Given the description of an element on the screen output the (x, y) to click on. 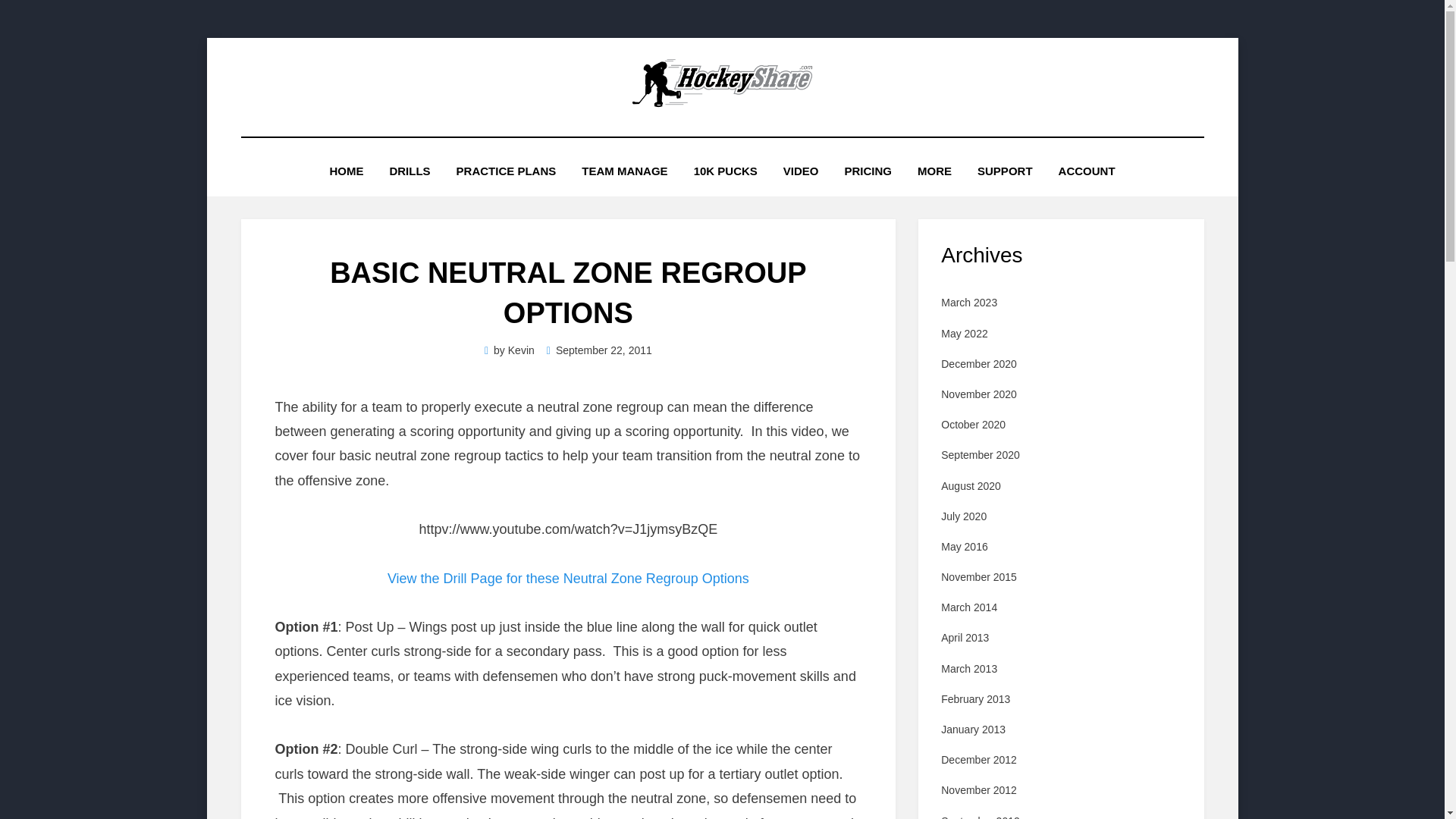
PRACTICE PLANS (506, 170)
September 22, 2011 (599, 349)
July 2020 (963, 516)
HOME (345, 170)
February 2013 (975, 698)
TEAM MANAGE (624, 170)
November 2015 (978, 576)
March 2023 (968, 302)
March 2014 (968, 607)
View the Drill Page for these Neutral Zone Regroup Options (568, 578)
